Given the description of an element on the screen output the (x, y) to click on. 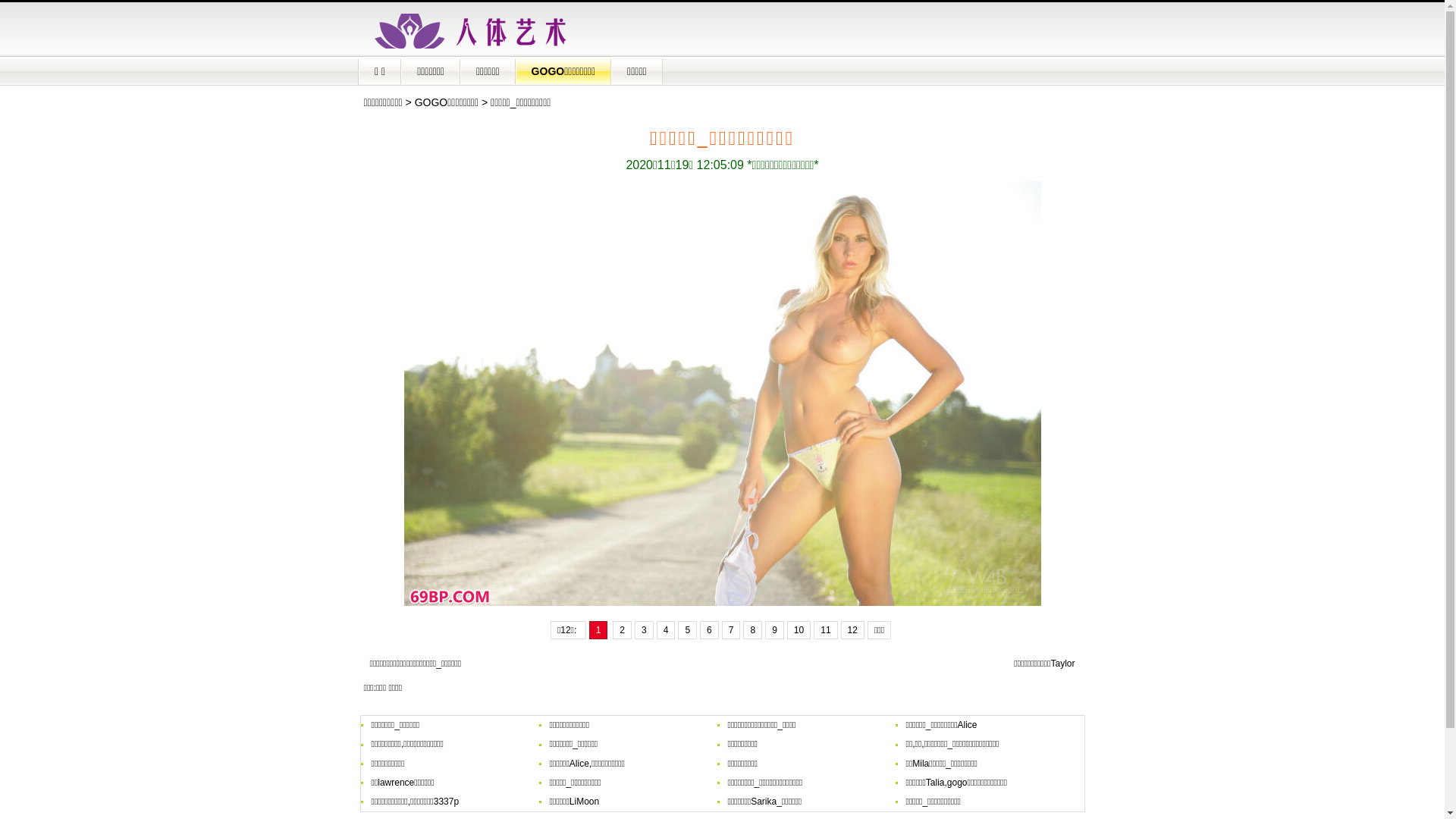
3 Element type: text (643, 630)
2 Element type: text (621, 630)
7 Element type: text (730, 630)
10 Element type: text (798, 630)
5 Element type: text (686, 630)
4 Element type: text (665, 630)
8 Element type: text (752, 630)
6 Element type: text (708, 630)
11 Element type: text (825, 630)
9 Element type: text (774, 630)
1 Element type: text (598, 630)
12 Element type: text (852, 630)
